Given the description of an element on the screen output the (x, y) to click on. 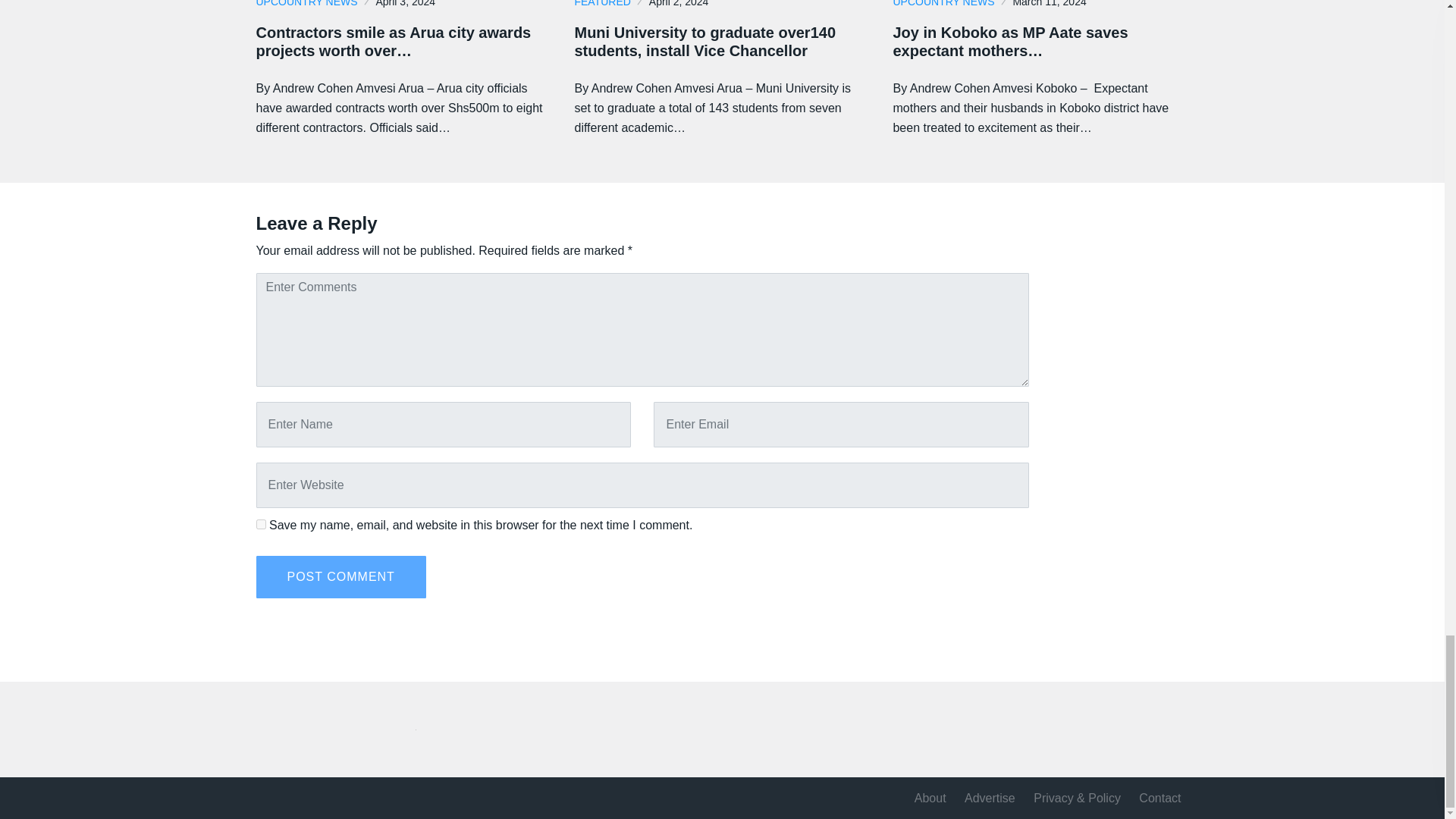
yes (261, 524)
Post Comment (341, 577)
